Given the description of an element on the screen output the (x, y) to click on. 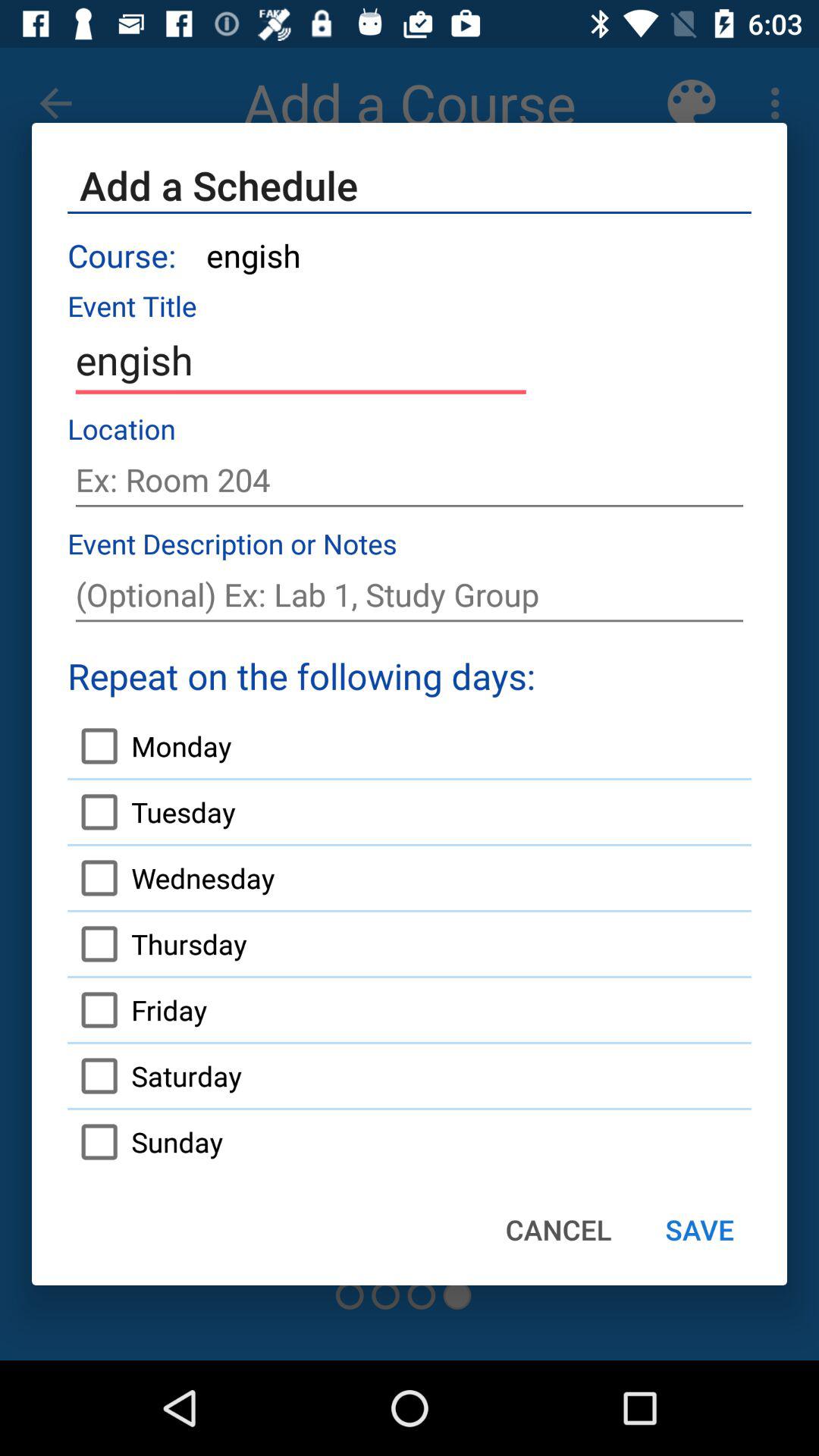
enter optional event description or notes (409, 594)
